Given the description of an element on the screen output the (x, y) to click on. 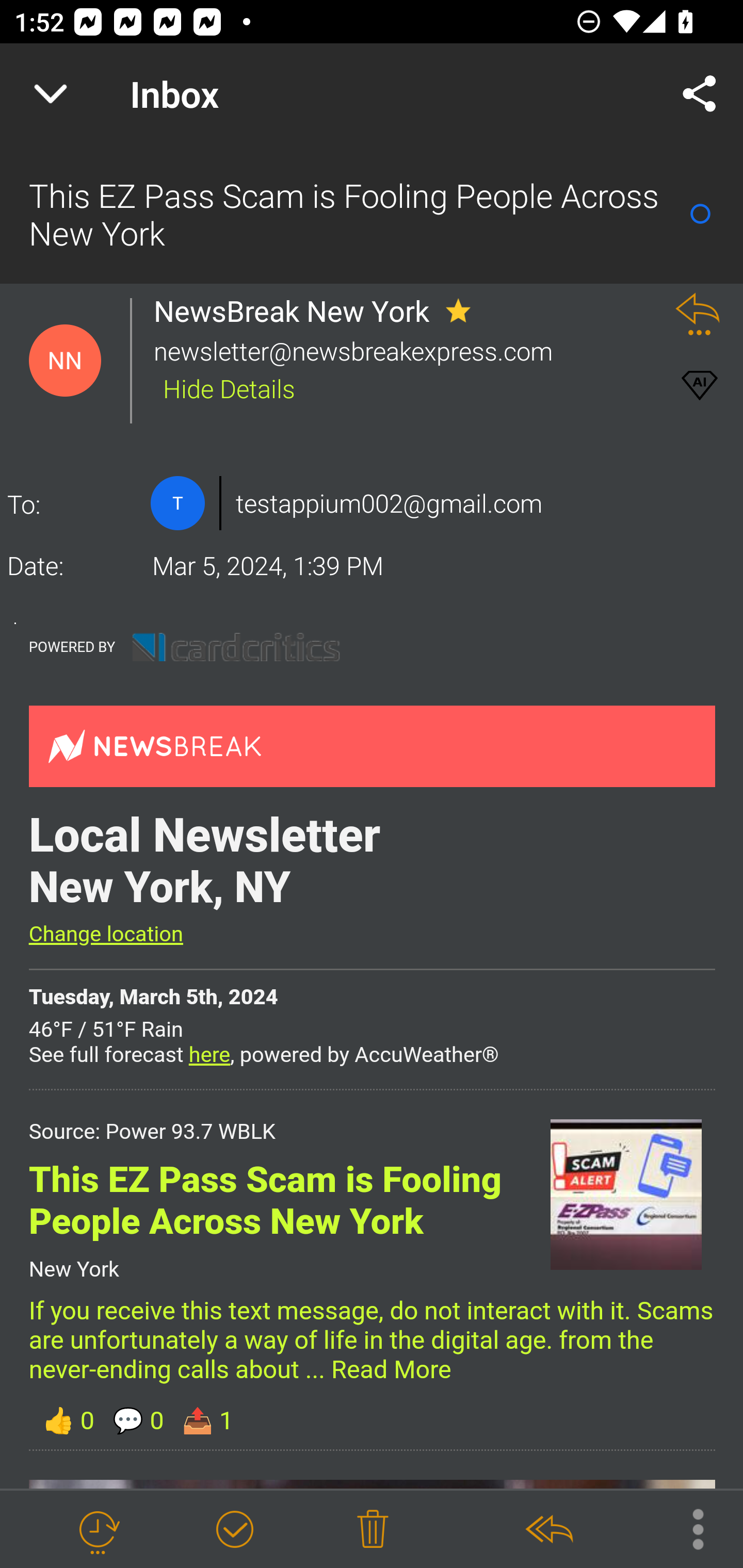
Navigate up (50, 93)
Share (699, 93)
Mark as Read (699, 213)
NewsBreak New York (296, 310)
Unstar (457, 311)
Contact Details (64, 360)
6 NewsBreak New York & You (370, 361)
Hide Details (228, 387)
Contact Details (177, 502)
testappium002@gmail.com (388, 503)
More Options (687, 1528)
Snooze (97, 1529)
Mark as Done (234, 1529)
Delete (372, 1529)
Reply All (548, 1529)
